Given the description of an element on the screen output the (x, y) to click on. 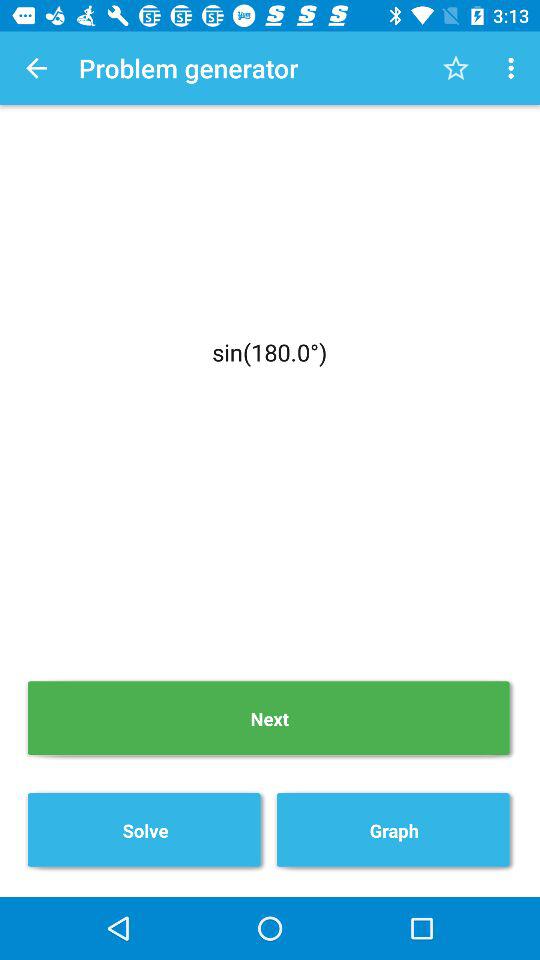
click on the star option on the top right (456, 68)
